Given the description of an element on the screen output the (x, y) to click on. 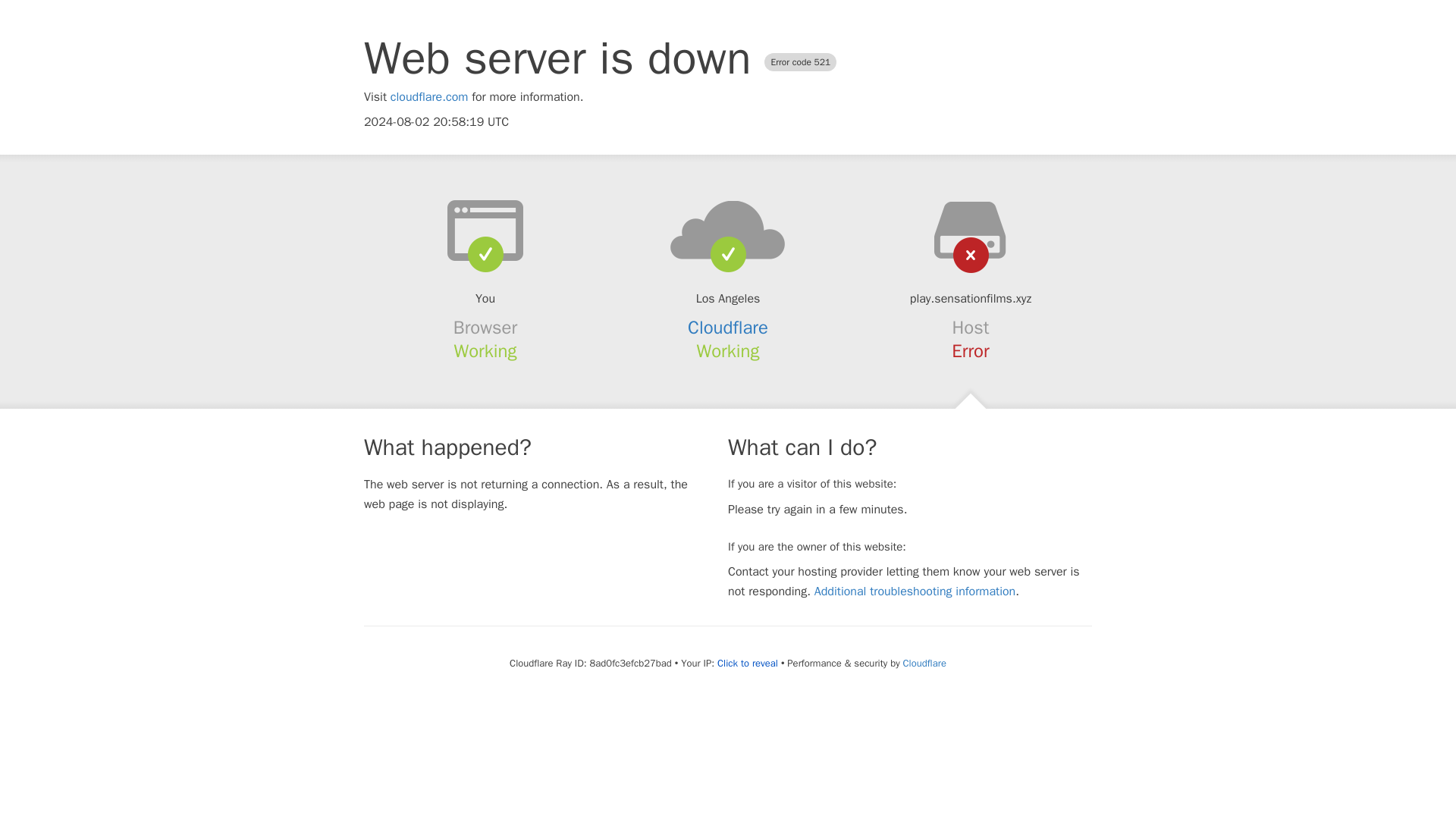
Click to reveal (747, 663)
Additional troubleshooting information (913, 590)
cloudflare.com (429, 96)
Cloudflare (924, 662)
Cloudflare (727, 327)
